Given the description of an element on the screen output the (x, y) to click on. 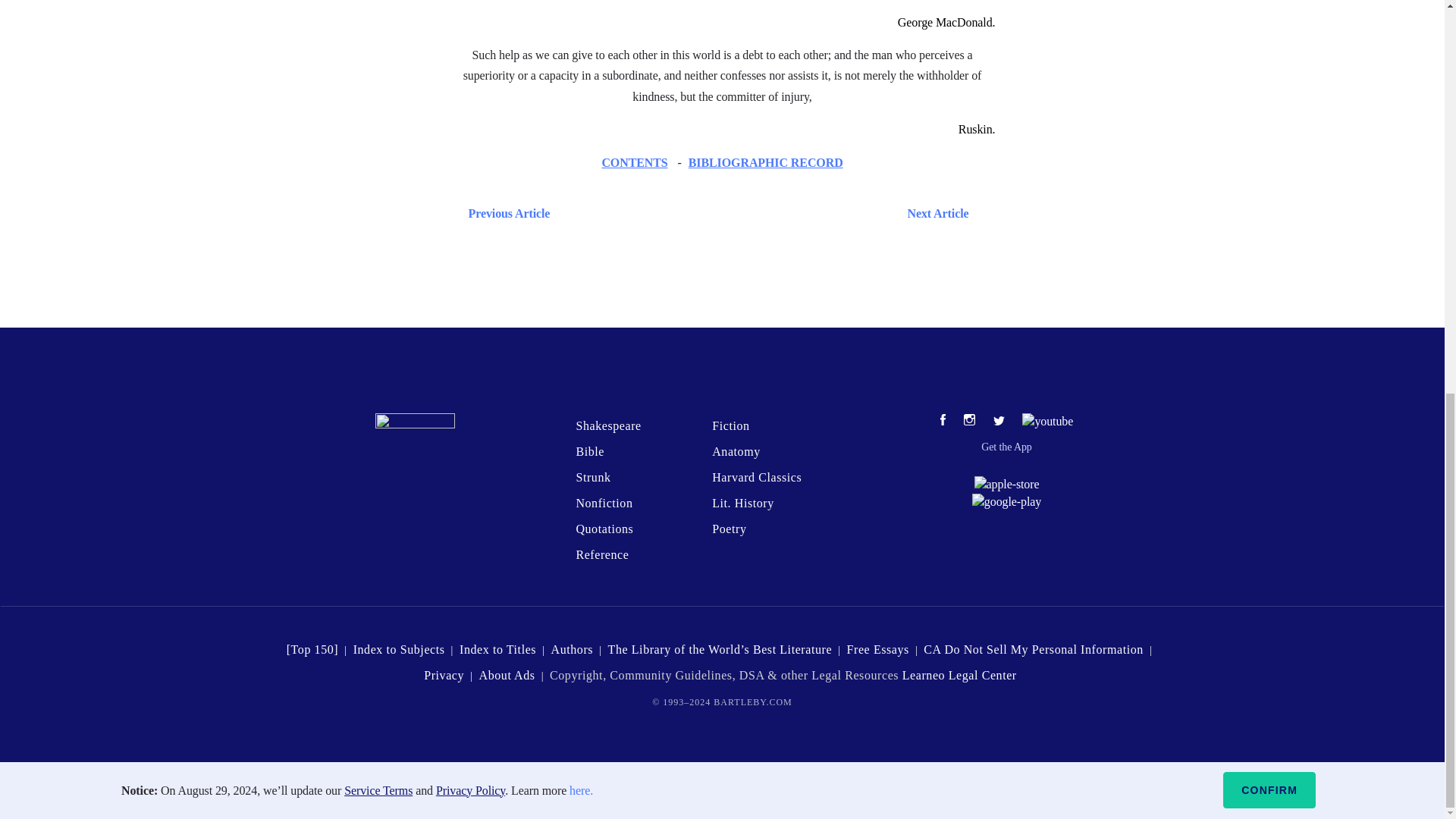
BIBLIOGRAPHIC RECORD (765, 162)
Nonfiction (603, 502)
Harvard Classics (756, 477)
Quotations (604, 528)
Reference (601, 554)
Strunk (592, 477)
Shakespeare (607, 425)
Lit. History (742, 502)
Anatomy (735, 451)
Next Article (766, 213)
